Given the description of an element on the screen output the (x, y) to click on. 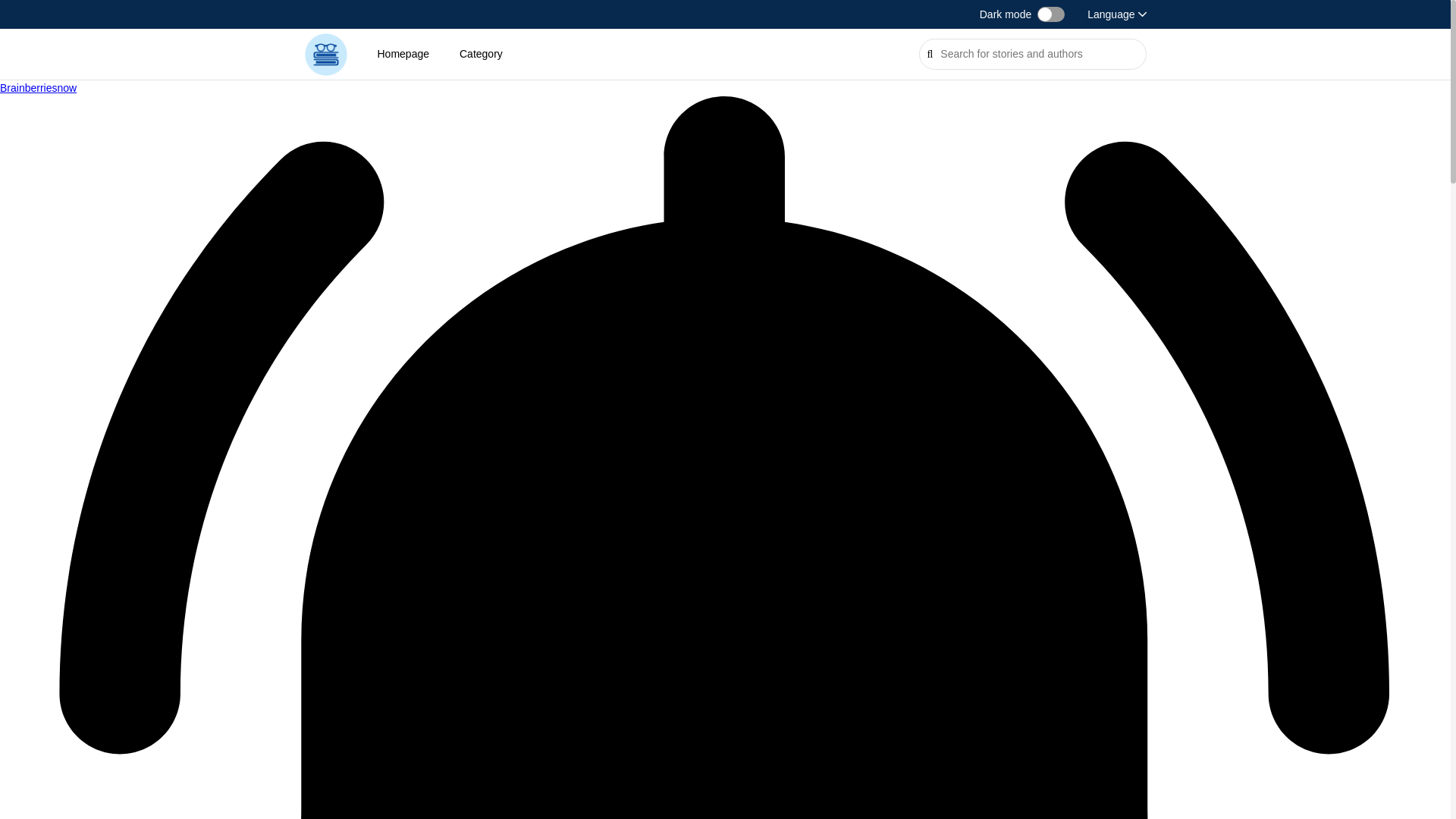
Homepage (403, 53)
